Given the description of an element on the screen output the (x, y) to click on. 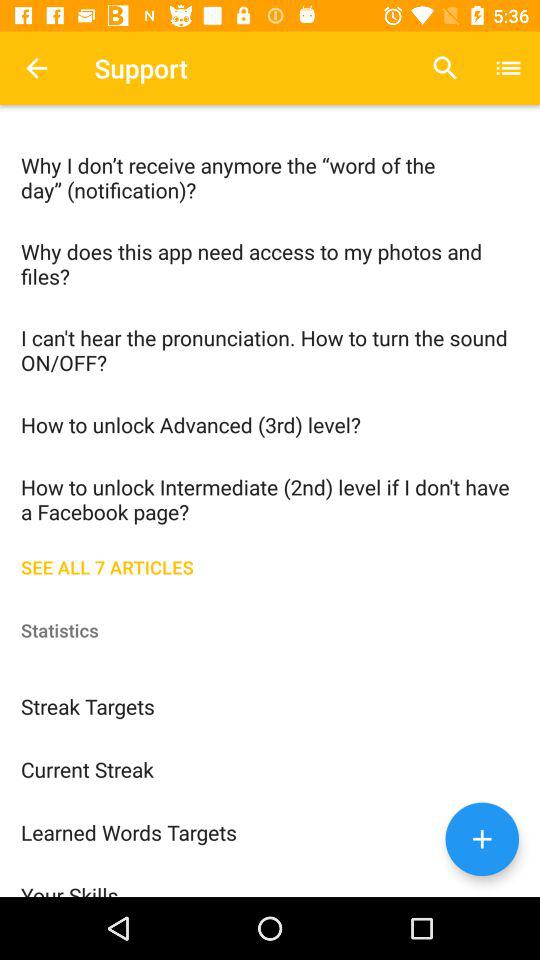
press icon above current streak (270, 705)
